Given the description of an element on the screen output the (x, y) to click on. 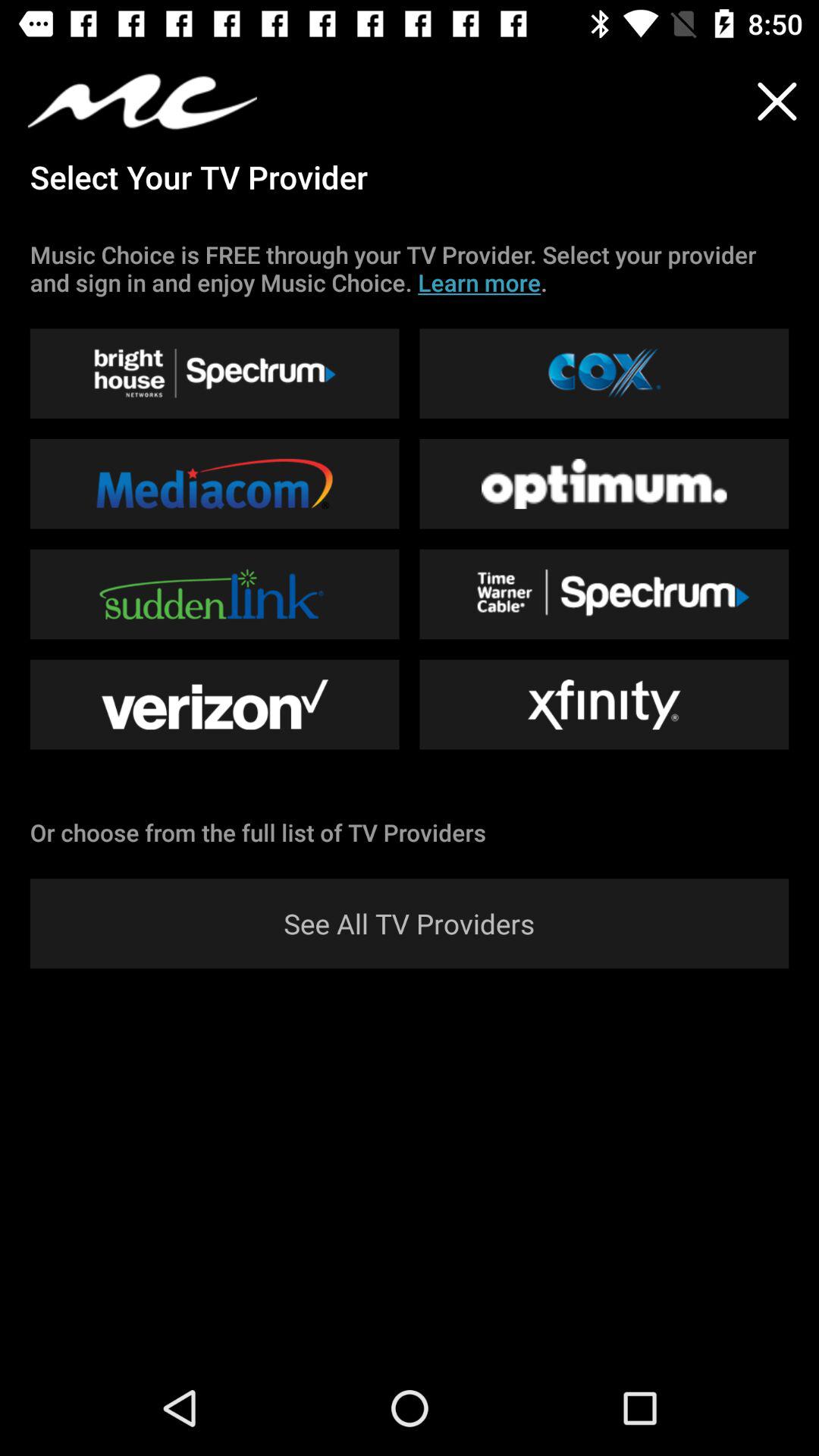
open music choice is (409, 268)
